Given the description of an element on the screen output the (x, y) to click on. 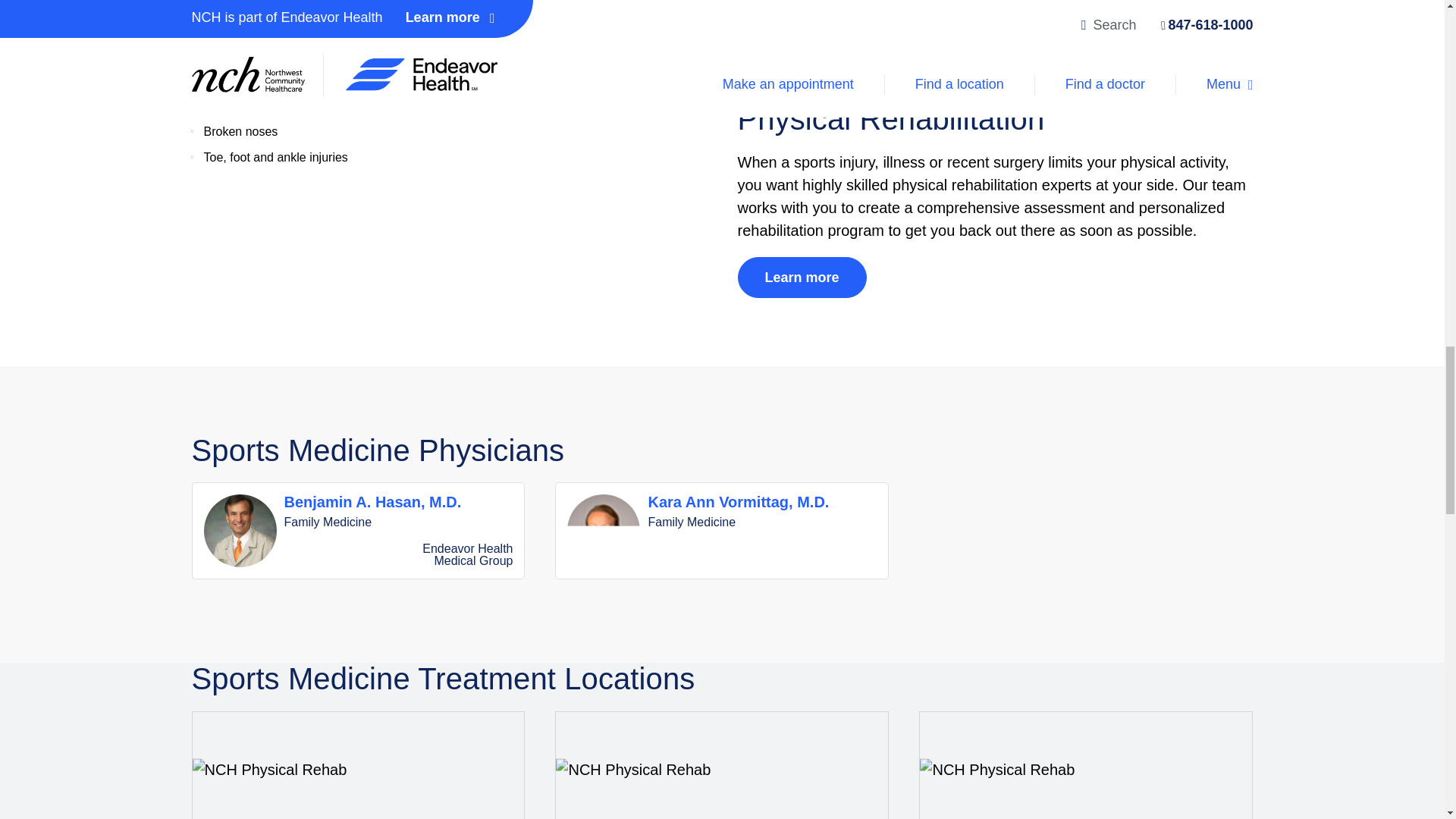
Learn more (801, 44)
Learn more (721, 530)
